Given the description of an element on the screen output the (x, y) to click on. 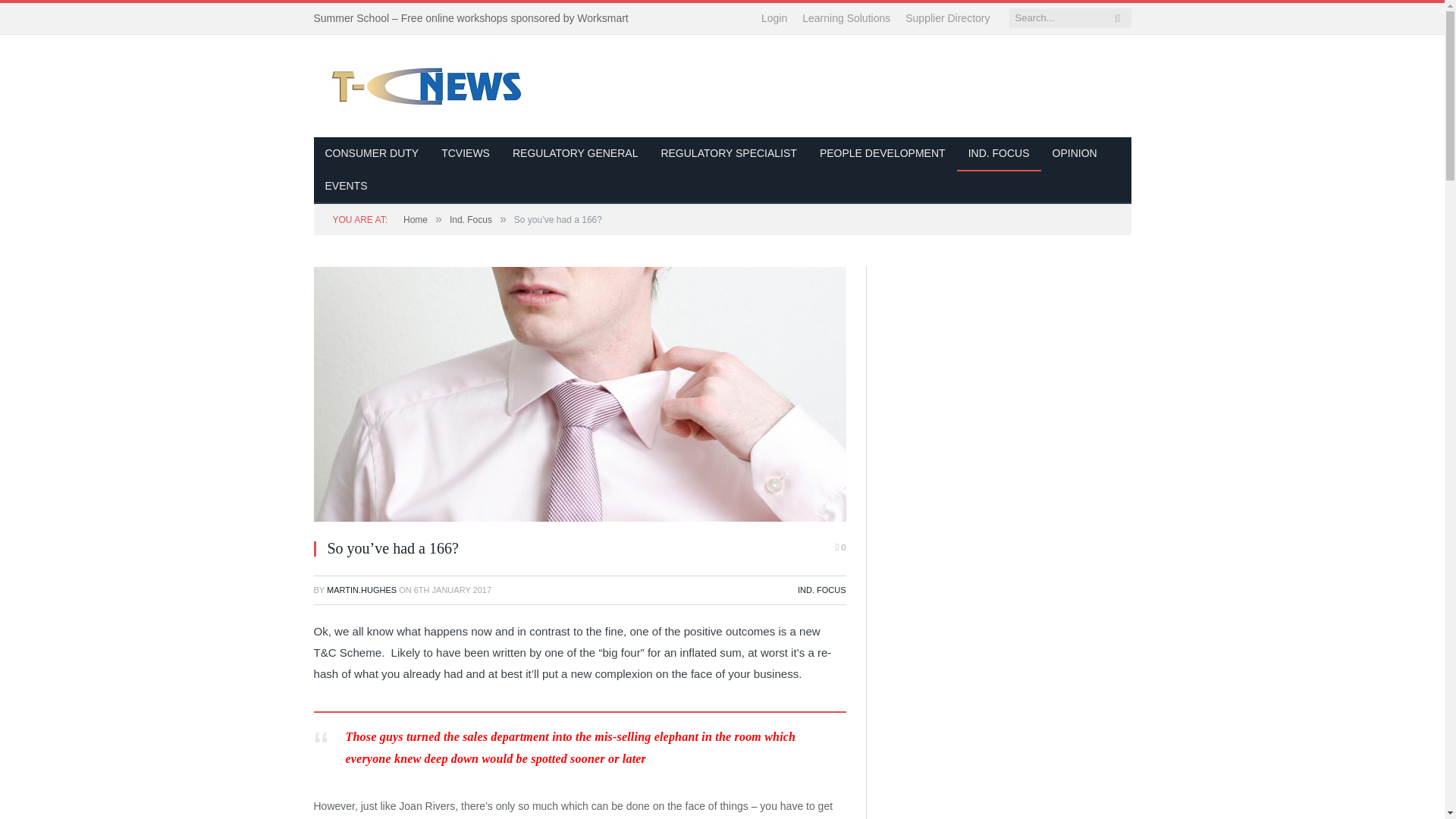
Learning Solutions (845, 18)
PEOPLE DEVELOPMENT (882, 154)
IND. FOCUS (821, 589)
EVENTS (346, 186)
REGULATORY GENERAL (574, 154)
Home (415, 219)
Ind. Focus (470, 219)
CONSUMER DUTY (372, 154)
REGULATORY SPECIALIST (728, 154)
TCVIEWS (464, 154)
Posts by Martin.Hughes (361, 589)
0 (840, 547)
Login (774, 18)
MARTIN.HUGHES (361, 589)
2017-01-06 (452, 589)
